Given the description of an element on the screen output the (x, y) to click on. 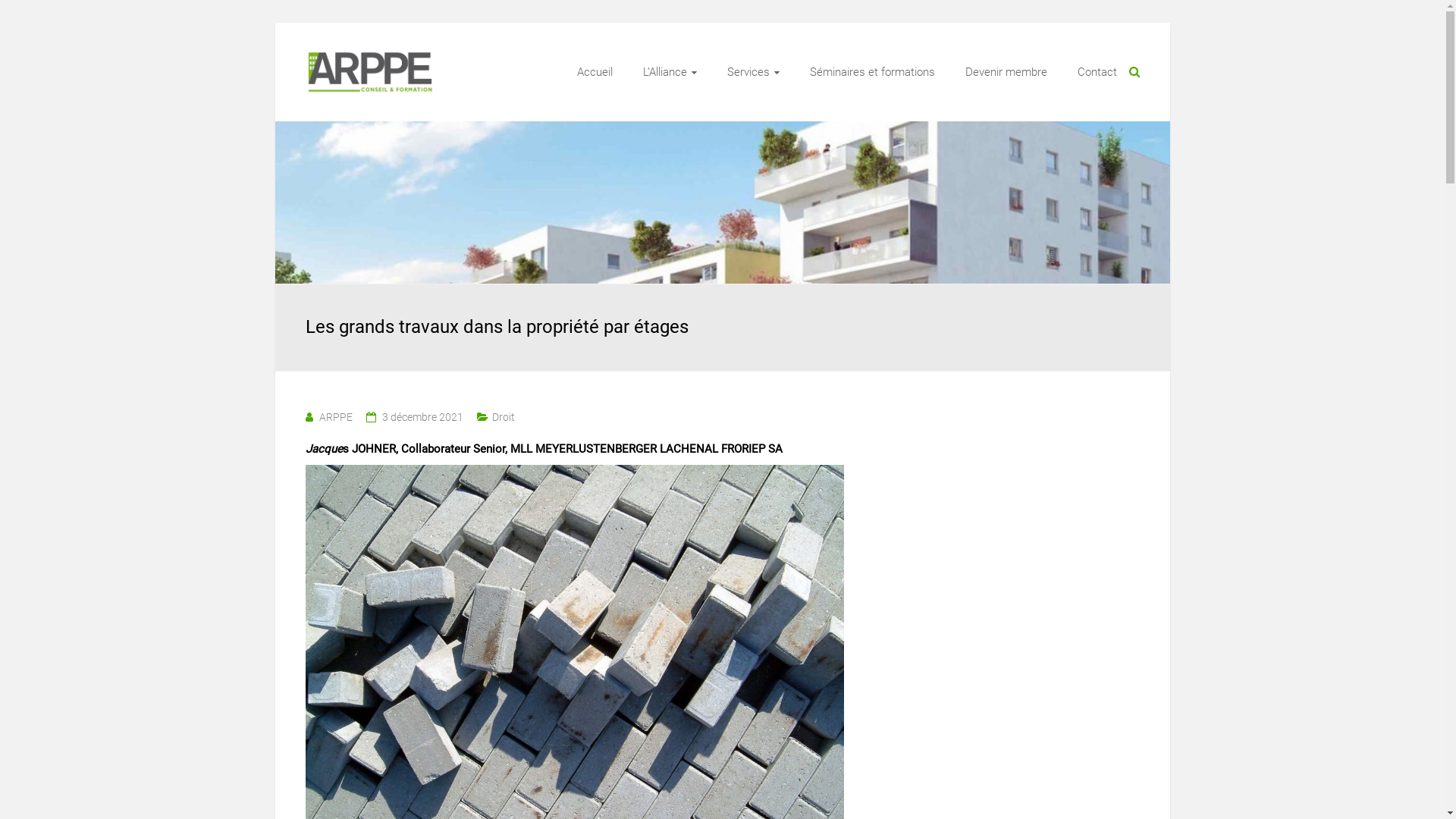
ARPPE Element type: text (334, 417)
Droit Element type: text (502, 417)
Services Element type: text (752, 71)
Skip to content Element type: text (274, 21)
Devenir membre Element type: text (1005, 71)
Contact Element type: text (1096, 71)
Accueil Element type: text (593, 71)
